Given the description of an element on the screen output the (x, y) to click on. 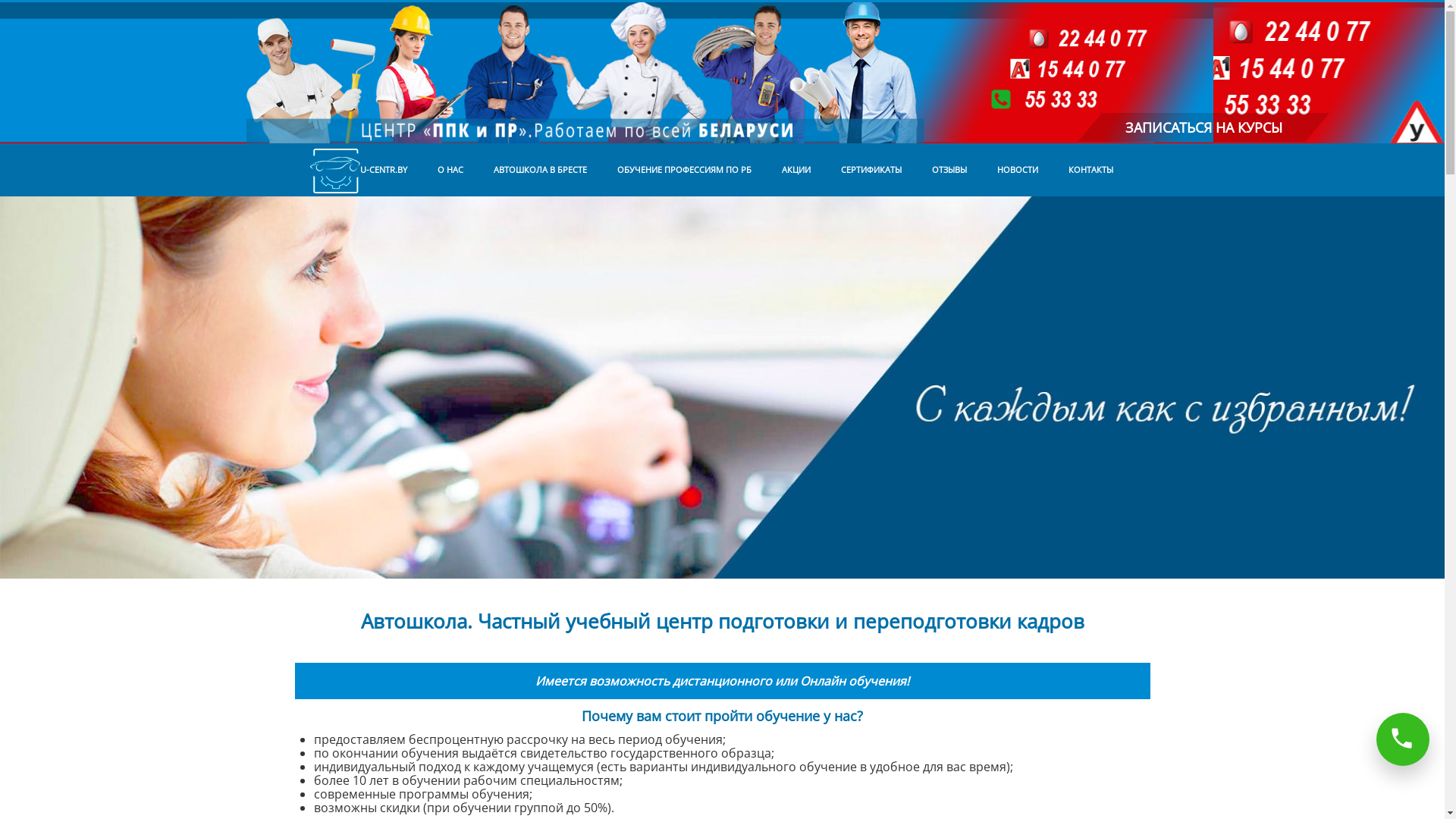
U-CENTR.BY Element type: text (357, 169)
